Given the description of an element on the screen output the (x, y) to click on. 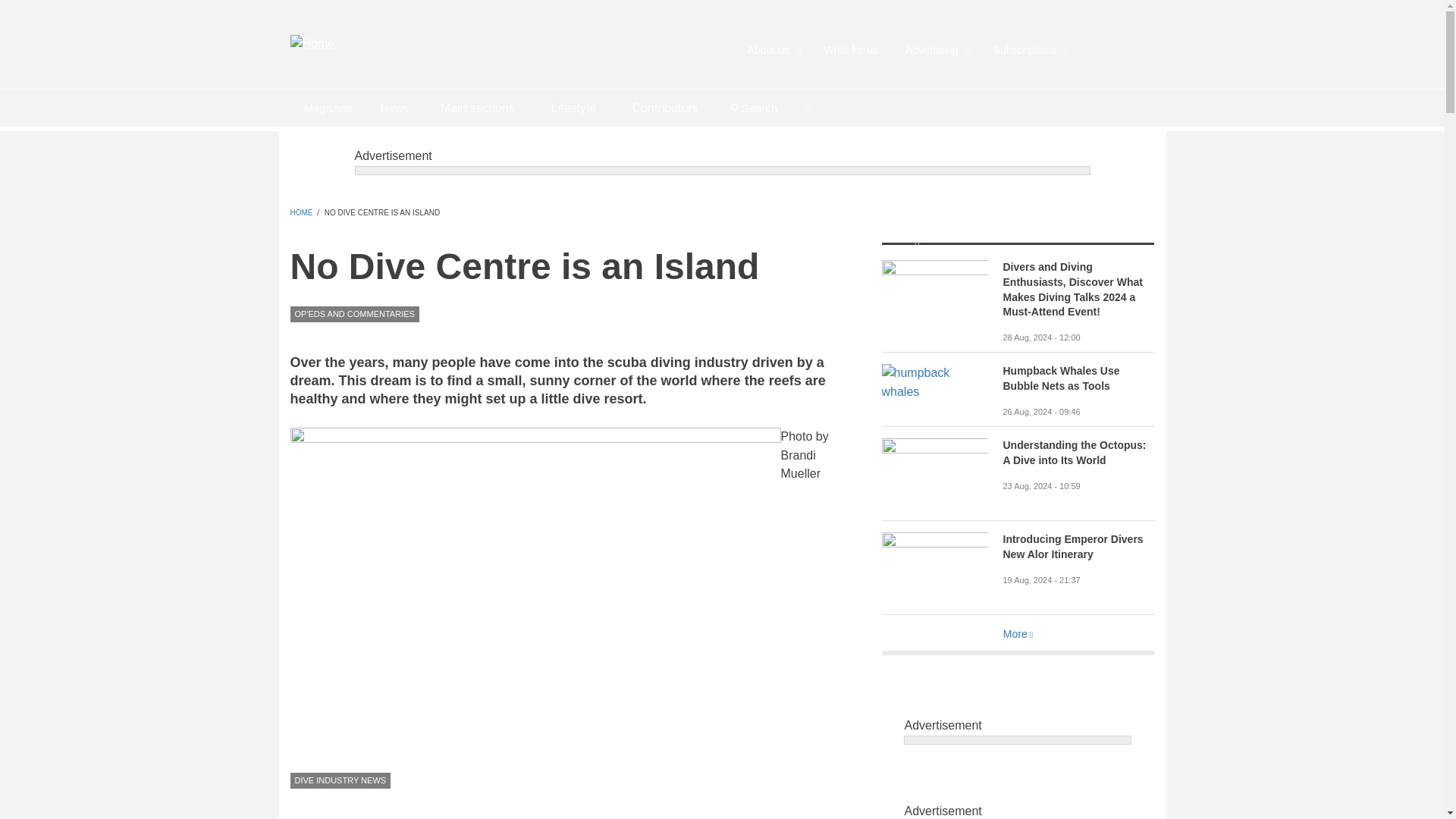
Advertising and promotions (934, 50)
About us (771, 50)
Back issues (327, 107)
Main sections (477, 108)
Home (311, 42)
Advertising (934, 50)
Subscriptions (1027, 50)
Latest posts (394, 107)
News (394, 107)
